Given the description of an element on the screen output the (x, y) to click on. 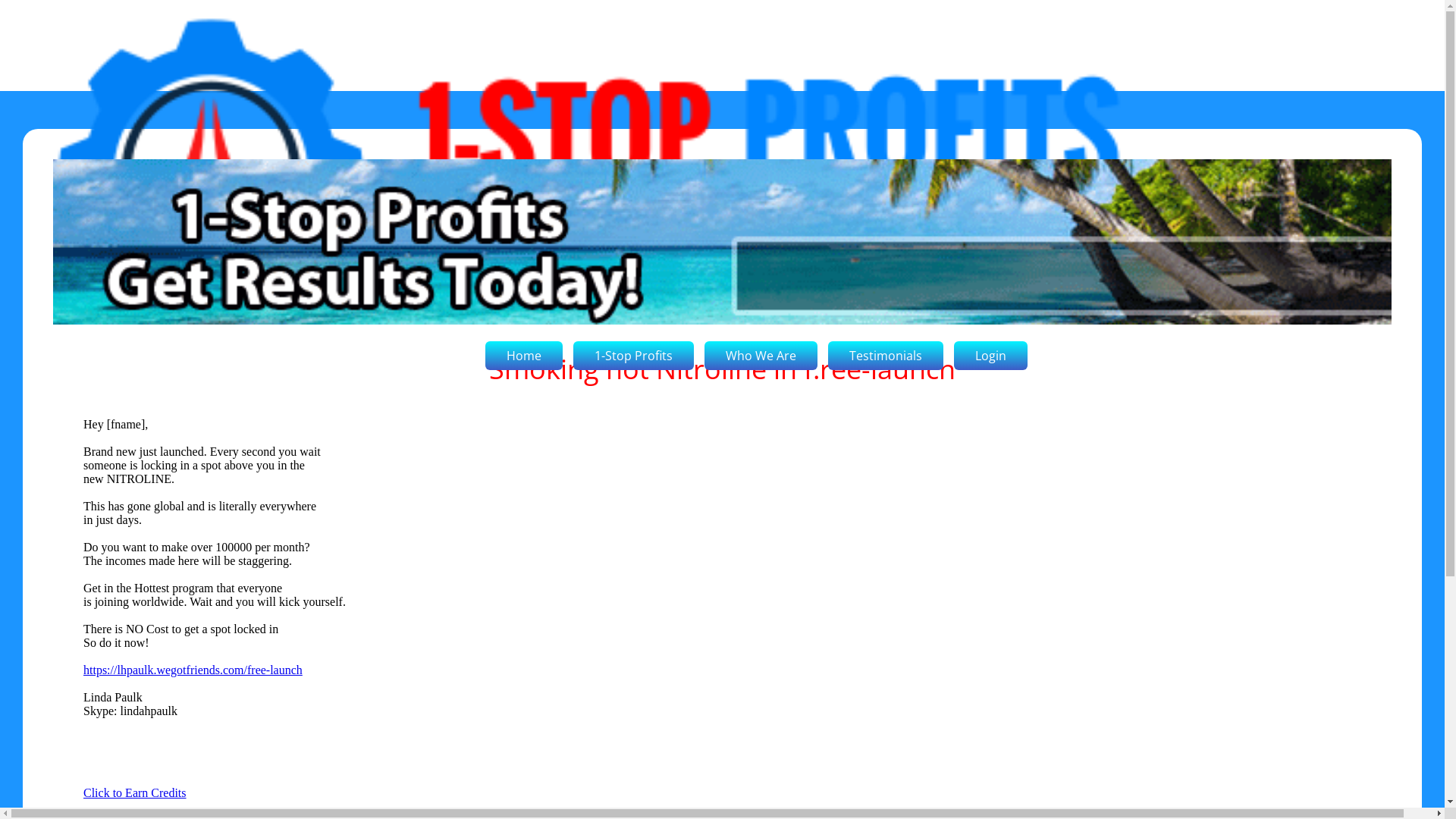
Click to Earn Credits Element type: text (134, 792)
https://lhpaulk.wegotfriends.com/free-launch Element type: text (192, 669)
Home Element type: text (523, 355)
Login Element type: text (990, 355)
1-Stop Profits Element type: text (633, 355)
Who We Are Element type: text (760, 355)
Testimonials Element type: text (885, 355)
